Given the description of an element on the screen output the (x, y) to click on. 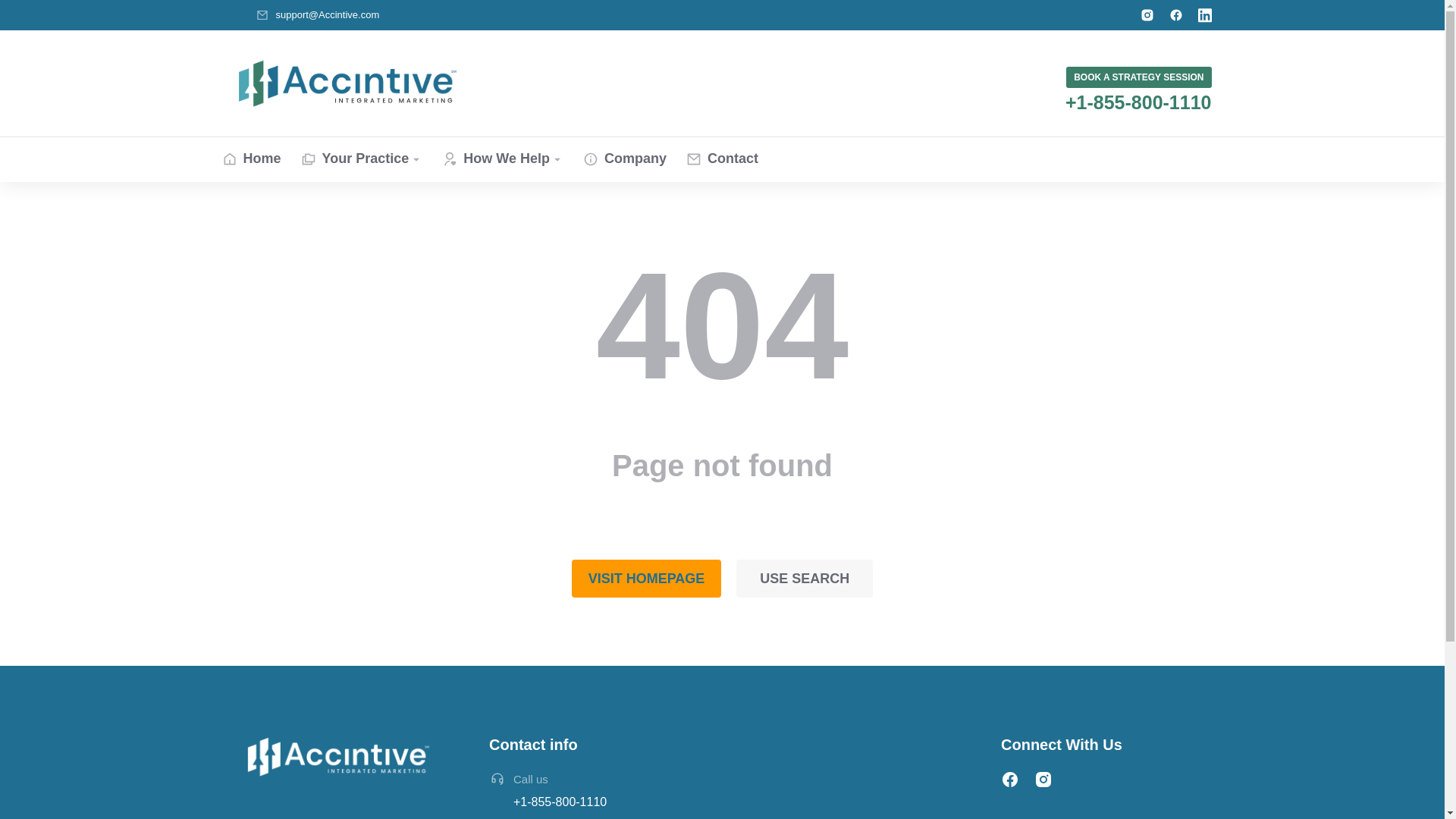
Home (251, 158)
Your Practice (362, 158)
BOOK A STRATEGY SESSION (1138, 76)
How We Help (502, 158)
